Given the description of an element on the screen output the (x, y) to click on. 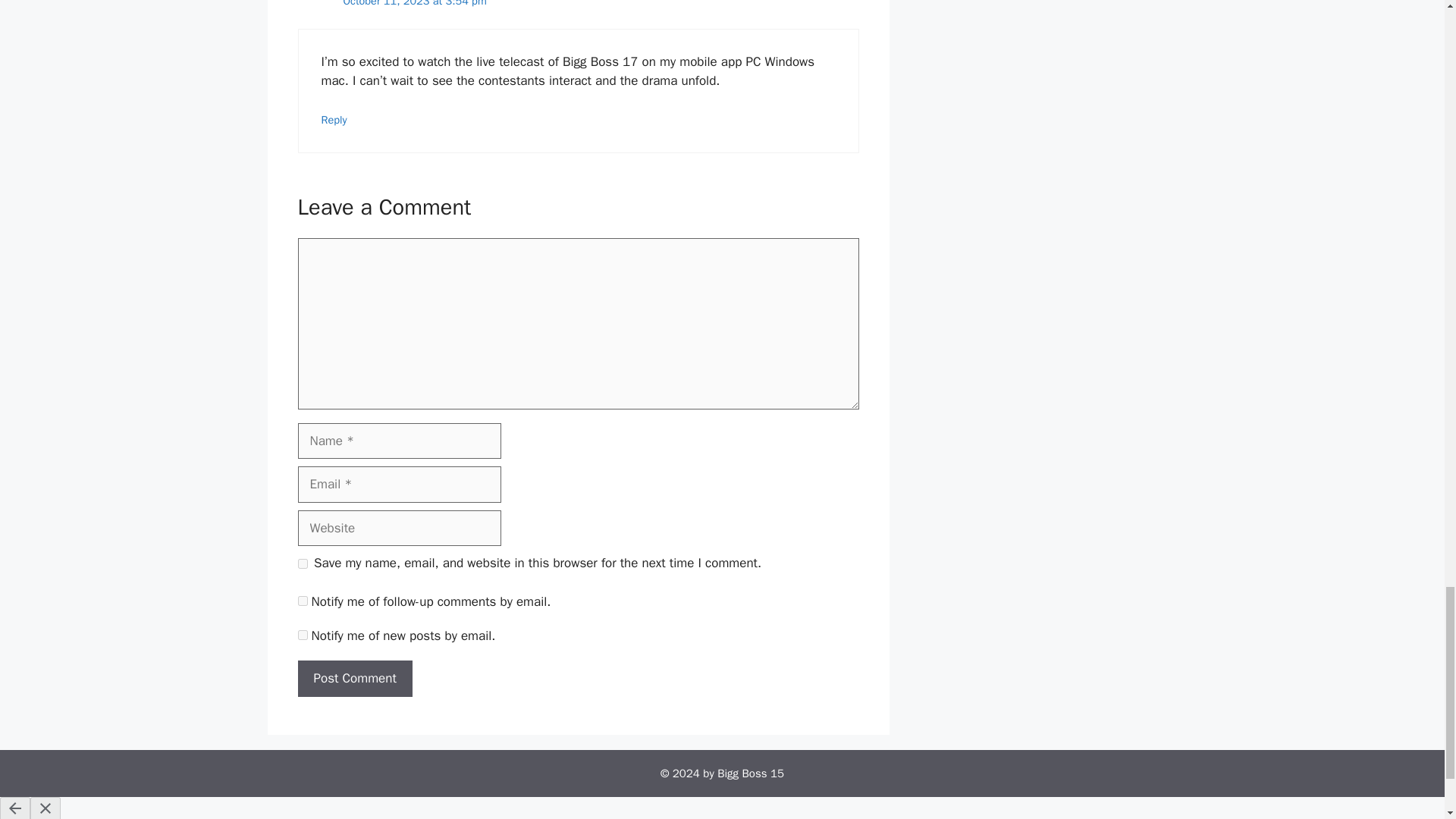
Post Comment (354, 678)
yes (302, 563)
subscribe (302, 634)
subscribe (302, 601)
October 11, 2023 at 3:54 pm (414, 3)
Reply (334, 119)
Post Comment (354, 678)
